Given the description of an element on the screen output the (x, y) to click on. 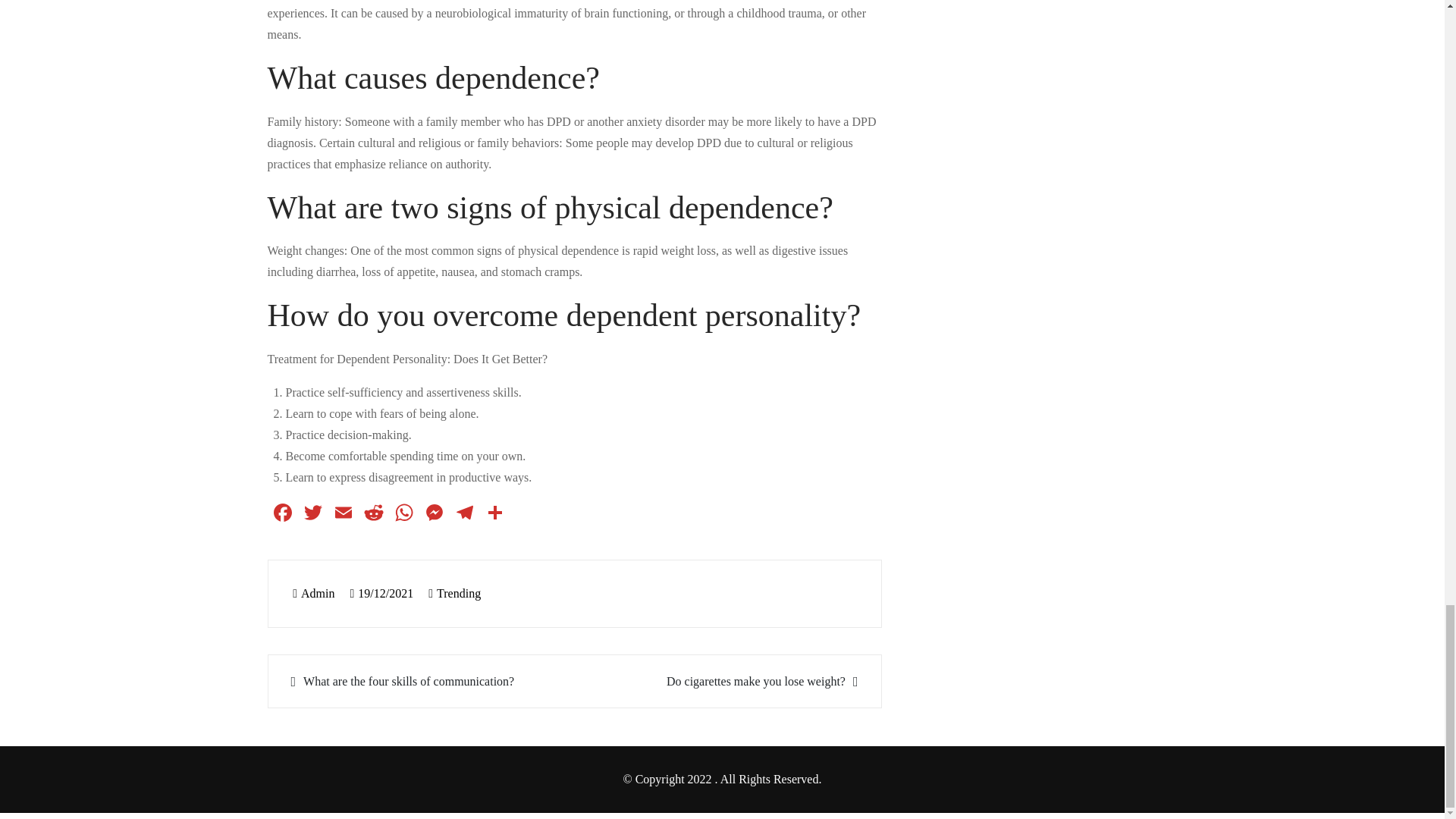
Email (342, 514)
WhatsApp (403, 514)
Twitter (312, 514)
Twitter (312, 514)
Trending (458, 593)
Admin (313, 593)
Telegram (463, 514)
Messenger (433, 514)
Facebook (281, 514)
Reddit (373, 514)
